Given the description of an element on the screen output the (x, y) to click on. 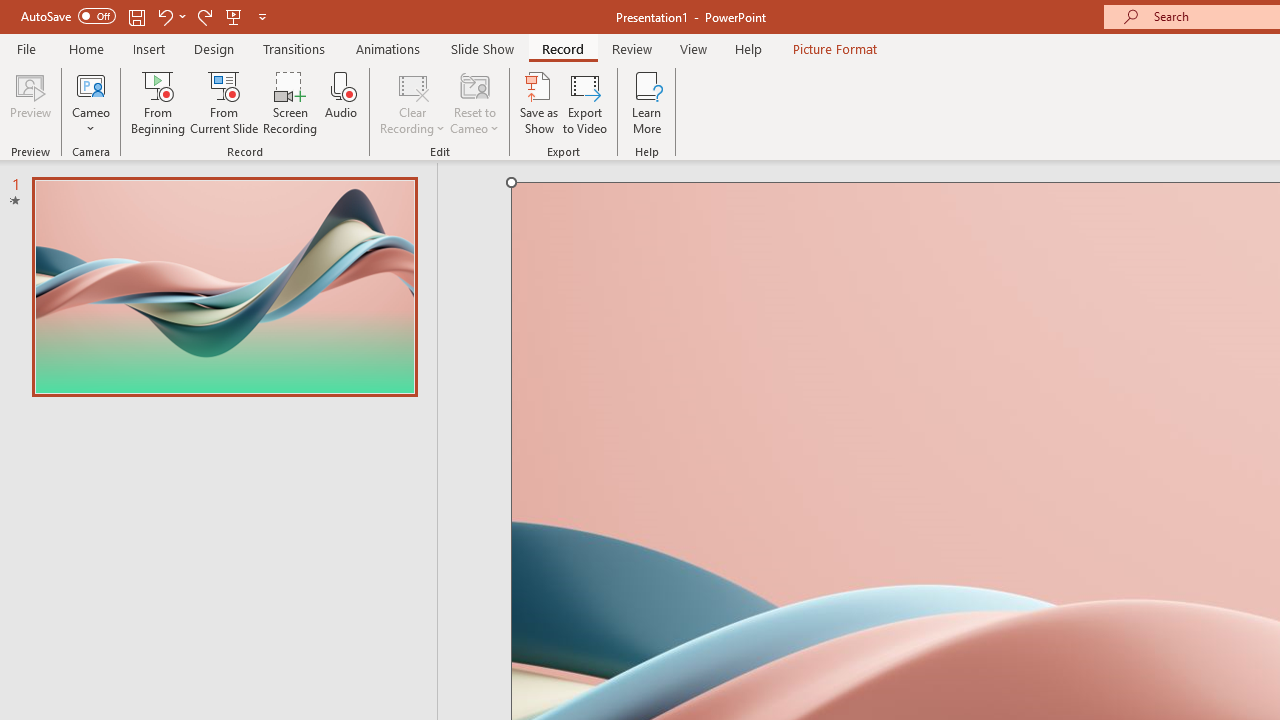
Picture Format (834, 48)
